Given the description of an element on the screen output the (x, y) to click on. 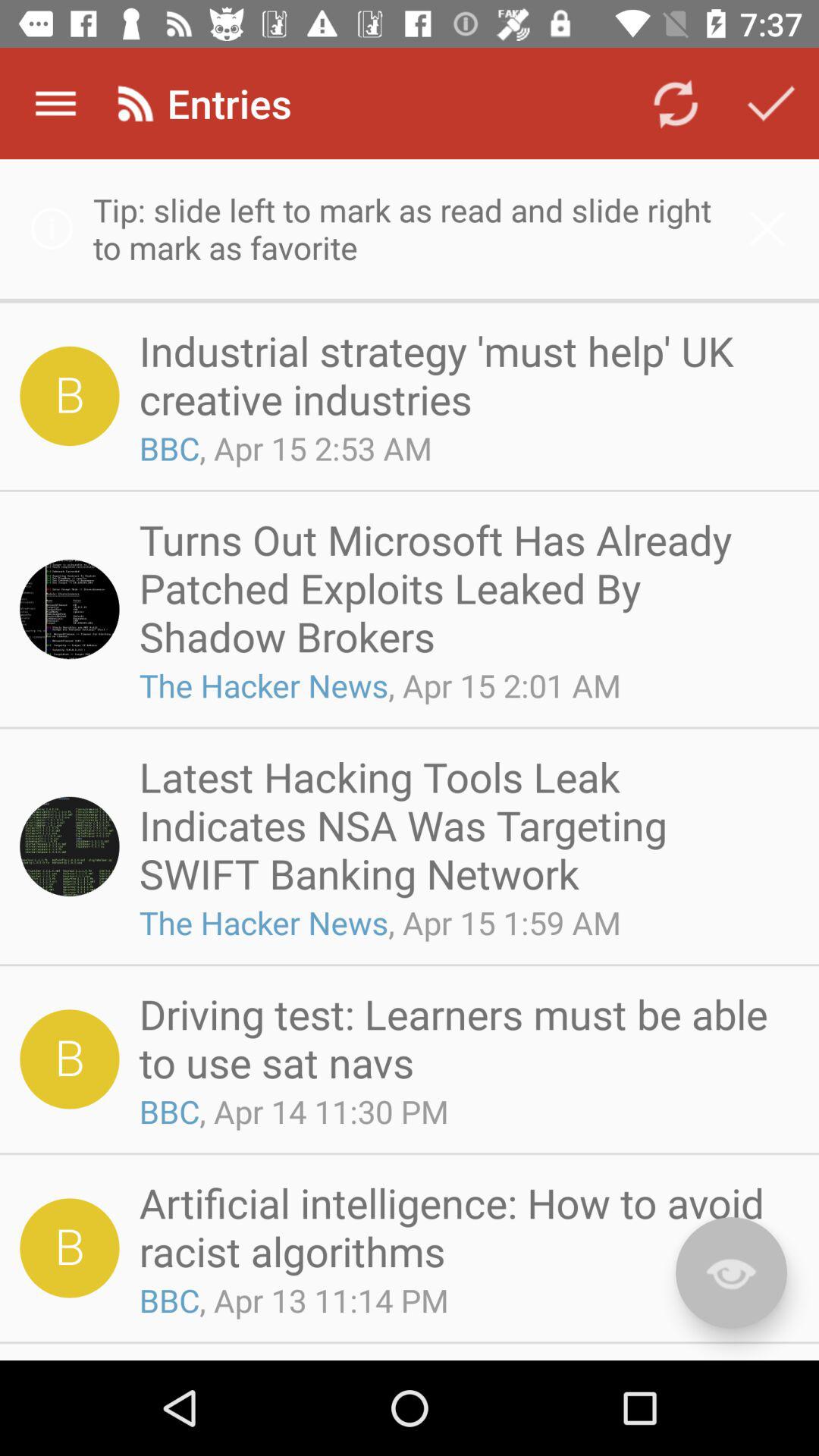
turn off the icon next to the bbc apr 13 (731, 1272)
